Given the description of an element on the screen output the (x, y) to click on. 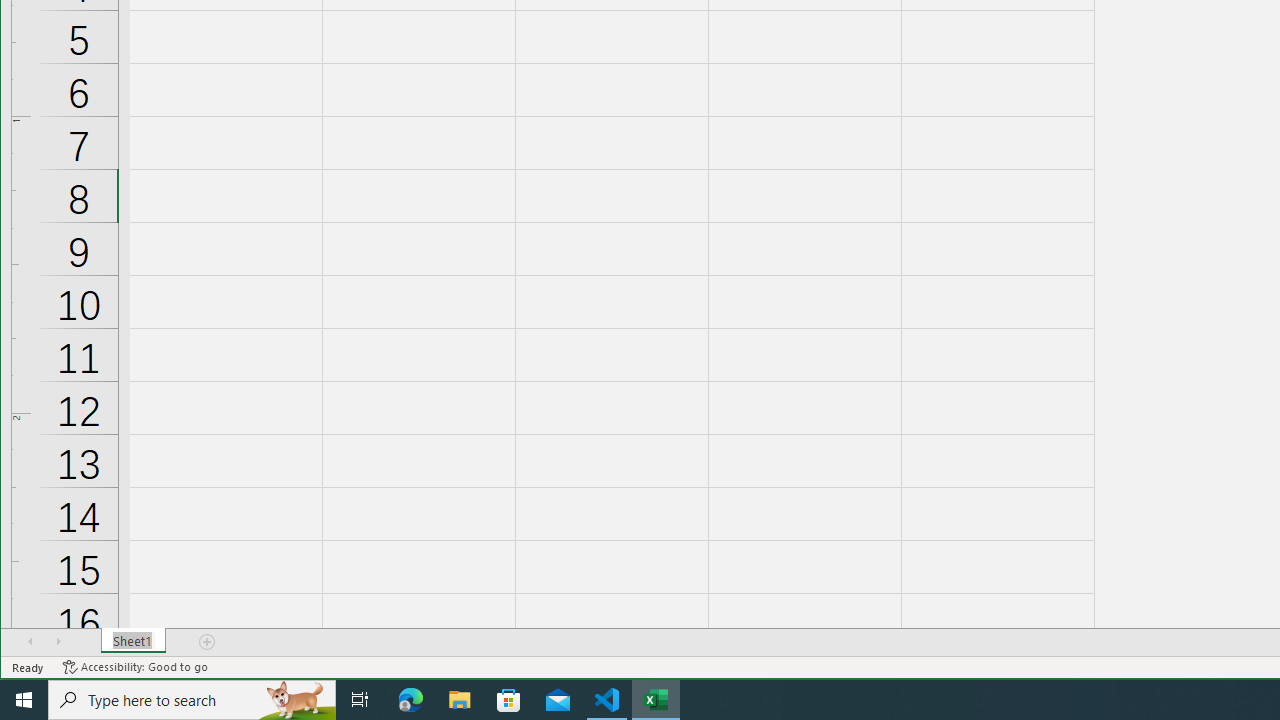
Search highlights icon opens search home window (295, 699)
Microsoft Store (509, 699)
Type here to search (191, 699)
Sheet Tab (133, 641)
Excel - 1 running window (656, 699)
Visual Studio Code - 1 running window (607, 699)
Microsoft Edge (411, 699)
Start (24, 699)
File Explorer (460, 699)
Task View (359, 699)
